Given the description of an element on the screen output the (x, y) to click on. 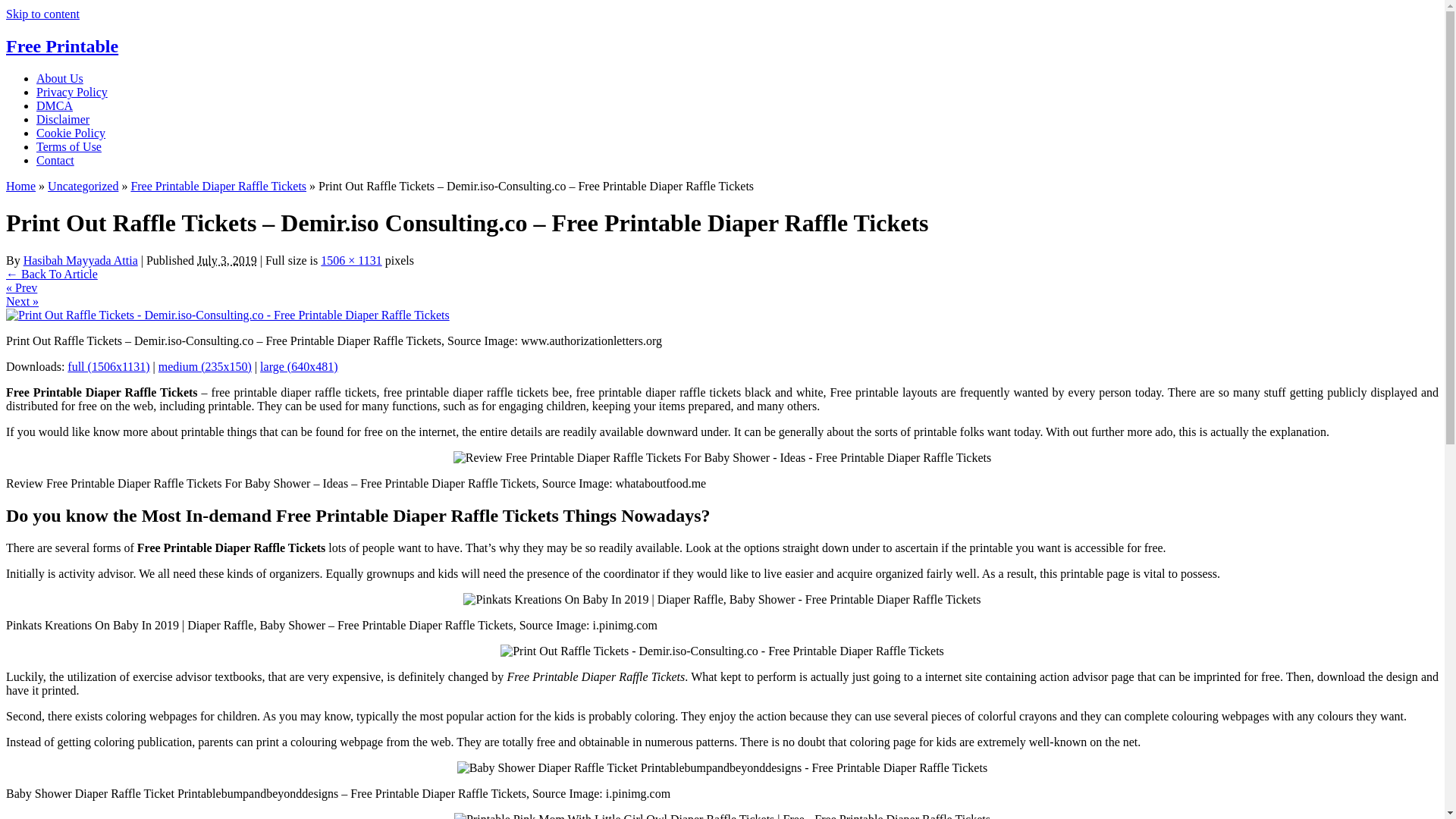
Privacy Policy (71, 91)
6:35 am (226, 259)
Return to Free Printable Diaper Raffle Tickets (51, 273)
Uncategorized (82, 185)
DMCA (54, 105)
View all posts by Hasibah Mayyada Attia (80, 259)
Home (19, 185)
About Us (59, 78)
Free Printable Diaper Raffle Tickets (218, 185)
Free Printable (61, 46)
Cookie Policy (70, 132)
